Given the description of an element on the screen output the (x, y) to click on. 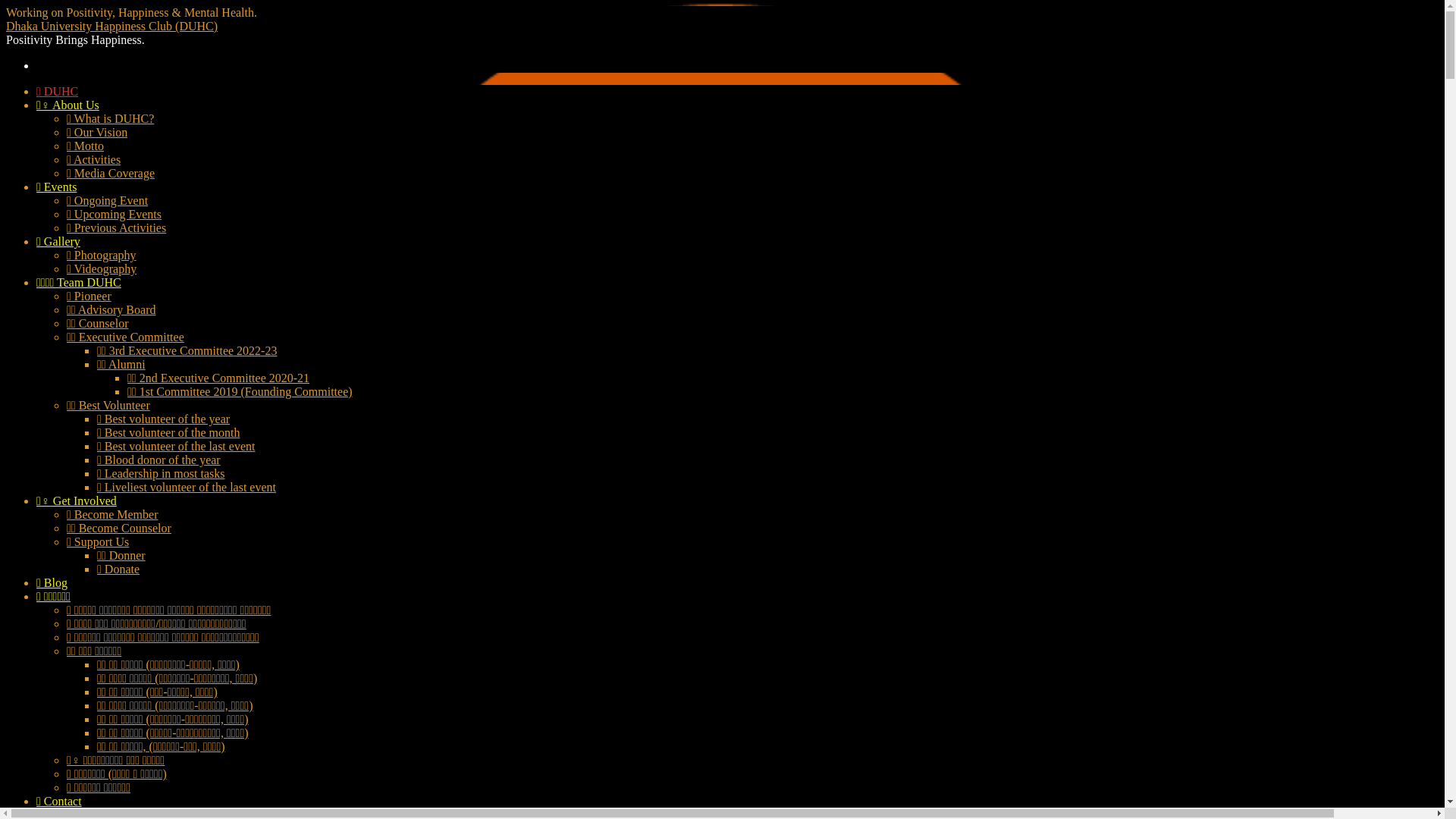
Dhaka University Happiness Club (DUHC) Element type: text (111, 25)
